Given the description of an element on the screen output the (x, y) to click on. 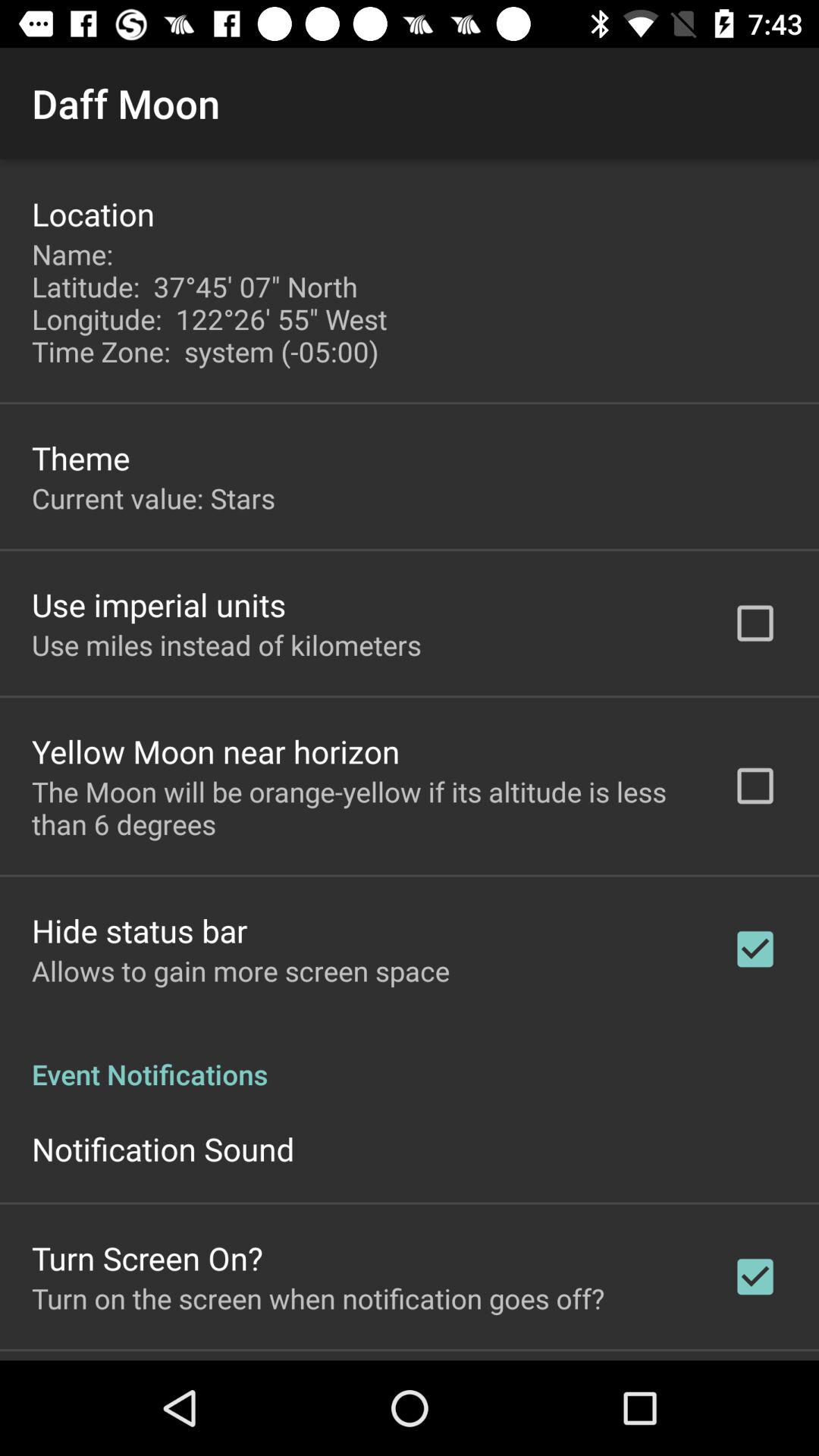
open app above allows to gain item (139, 930)
